Given the description of an element on the screen output the (x, y) to click on. 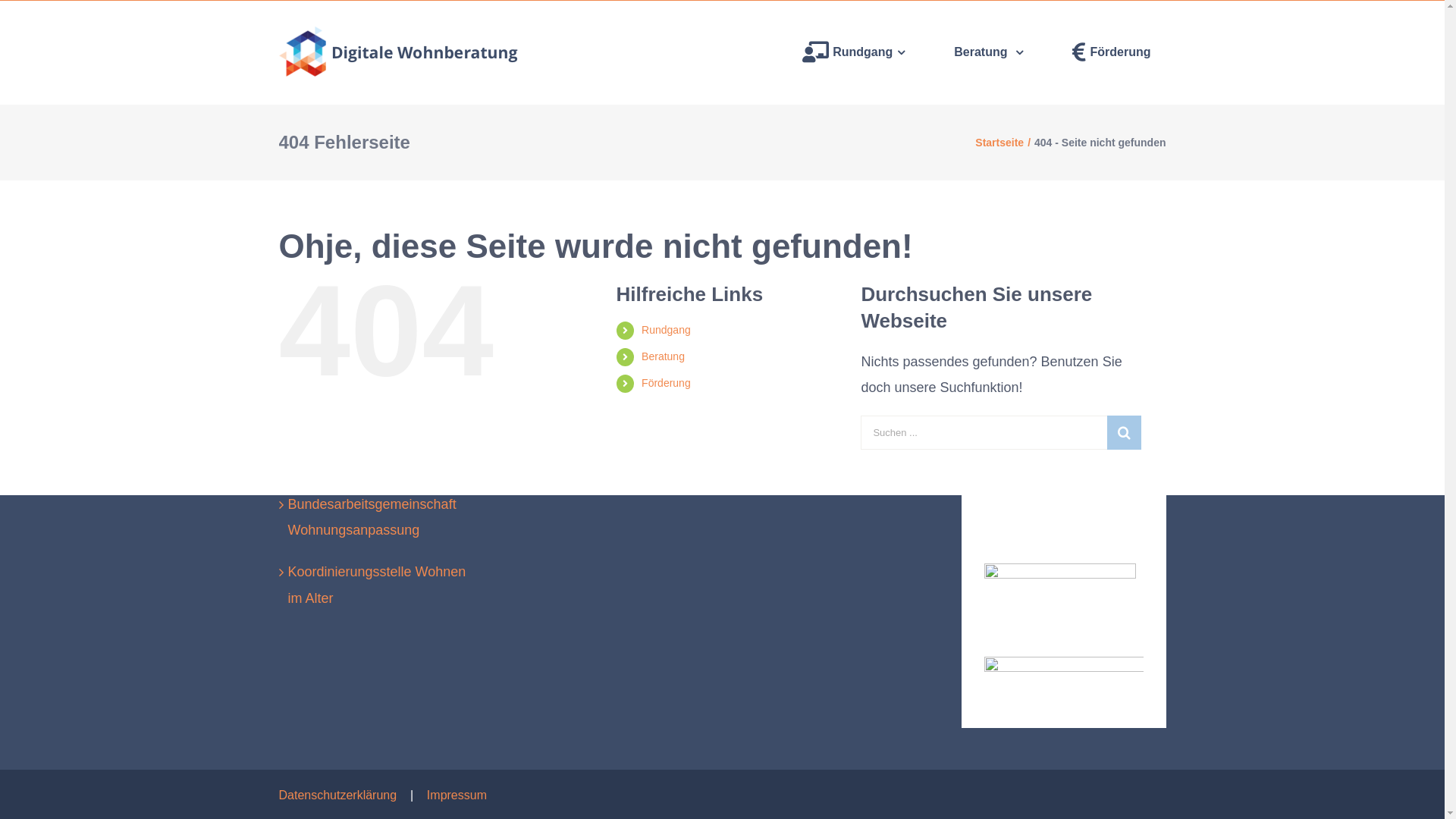
Koordinierungsstelle Wohnen im Alter Element type: text (382, 584)
Bundesarbeitsgemeinschaft Wohnungsanpassung Element type: text (382, 516)
Beratung Element type: text (662, 356)
Rundgang Element type: text (665, 329)
Beratung Element type: text (988, 51)
Fachstelle Barrierefreiheit Element type: text (382, 462)
Rundgang Element type: text (853, 51)
Startseite Element type: text (999, 142)
Impressum Element type: text (456, 794)
